Given the description of an element on the screen output the (x, y) to click on. 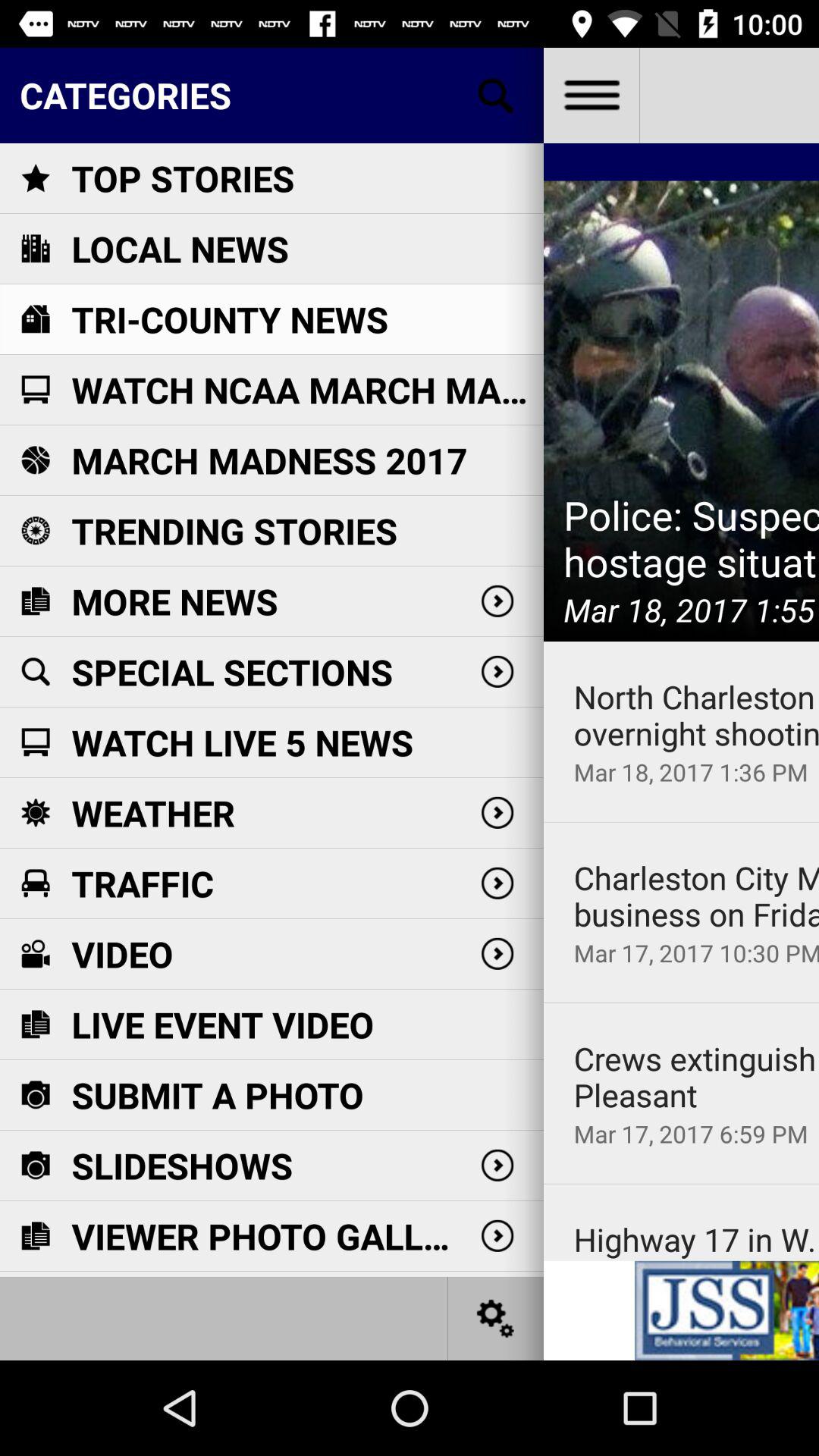
settings (495, 1318)
